Given the description of an element on the screen output the (x, y) to click on. 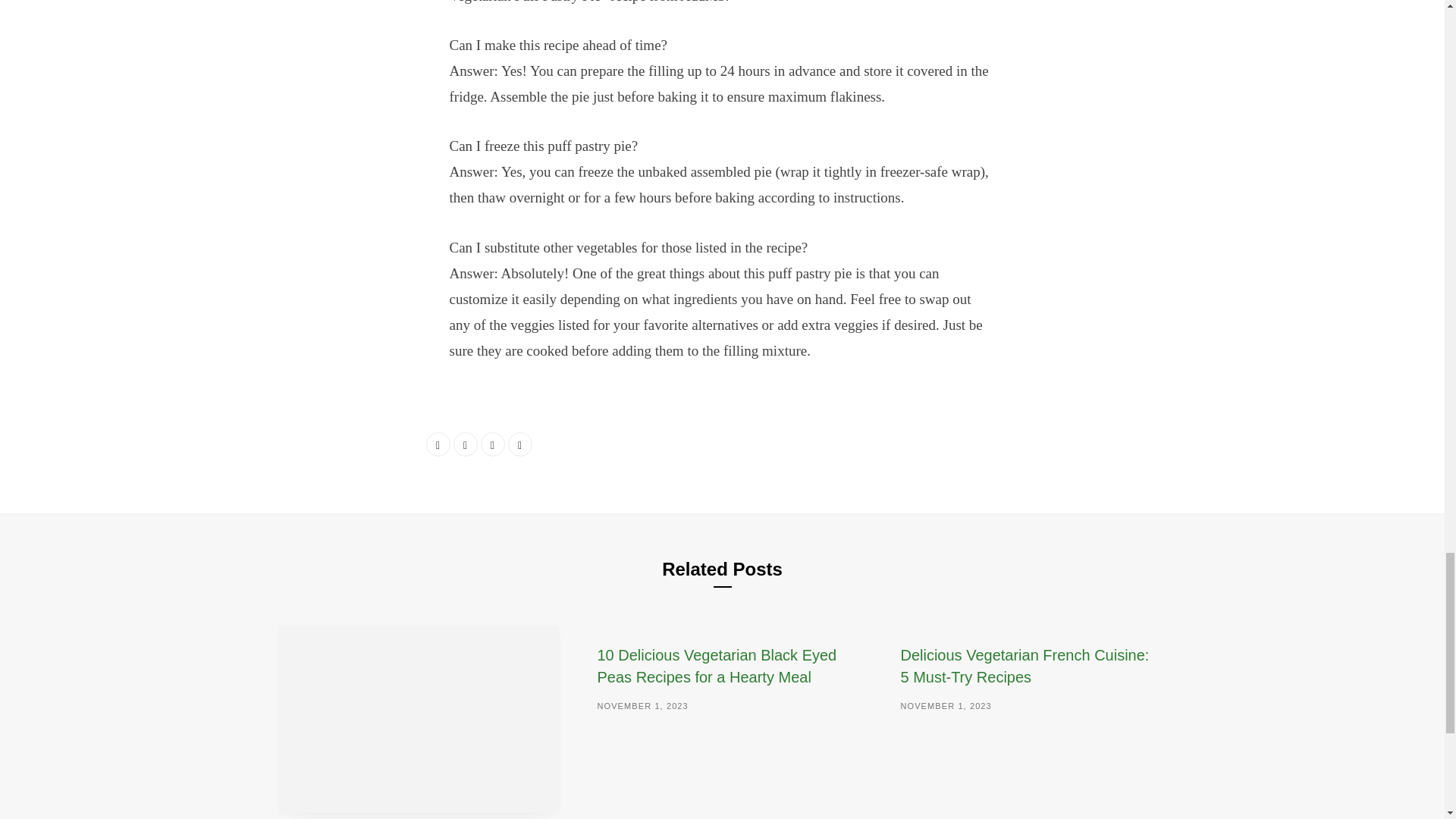
5 Veggie Skillet Meals for Busy Weeknights (419, 719)
Delicious Vegetarian French Cuisine: 5 Must-Try Recipes (1023, 666)
Share on Twitter (464, 444)
Share on Facebook (437, 444)
Pinterest (520, 444)
LinkedIn (492, 444)
